Given the description of an element on the screen output the (x, y) to click on. 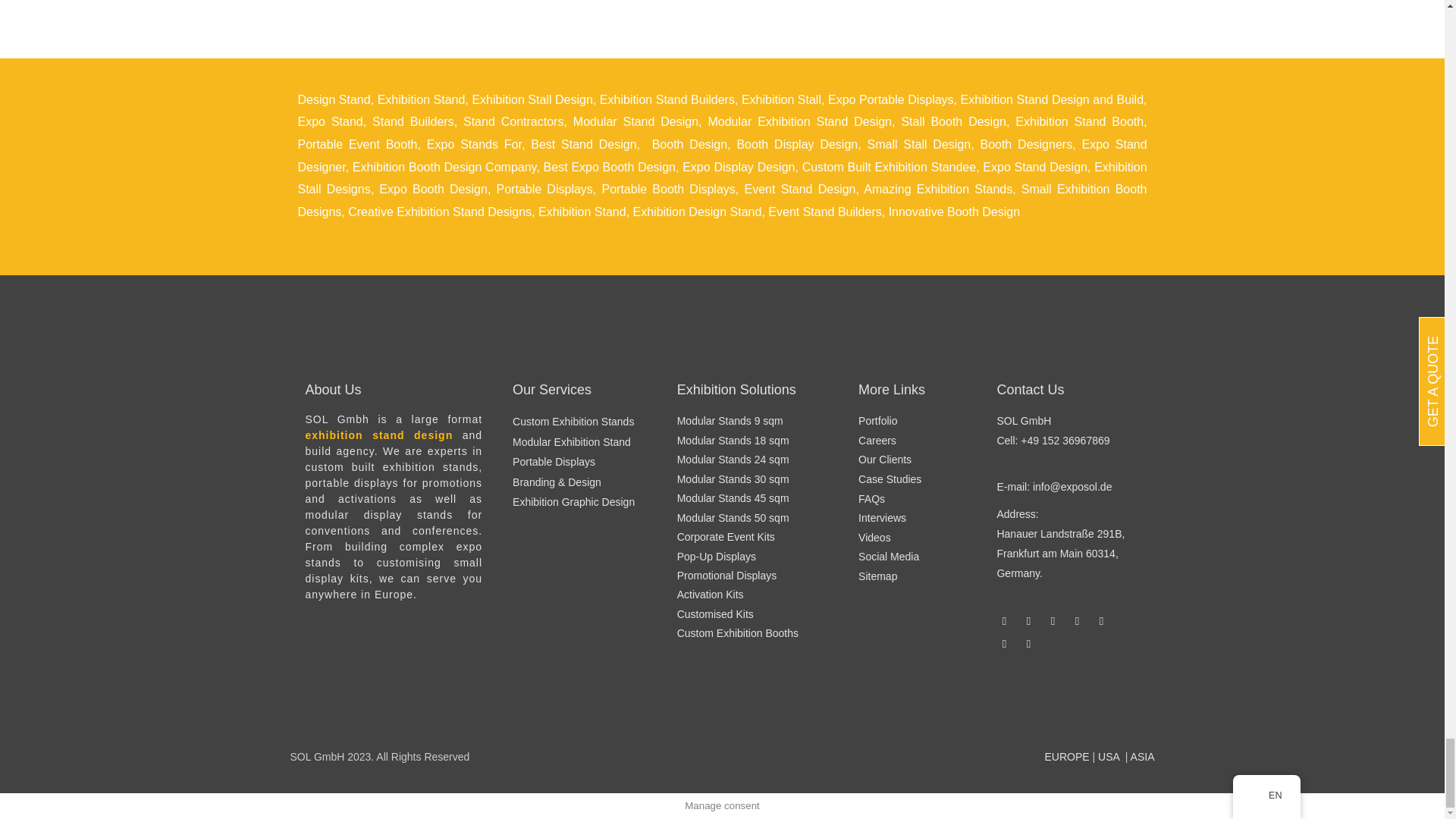
Exhibition Stall Design (531, 99)
Footer-Logo-06-cropped (969, 705)
Footer-Logo-02-cropped (475, 705)
Exhibition Stand Builders (667, 99)
Footer-Logo-03-cropped (845, 705)
Footer-Logo-07-Cropped (598, 705)
Design Stand (333, 99)
Exhibition Stand (421, 99)
I-Love-Sol (721, 705)
